Given the description of an element on the screen output the (x, y) to click on. 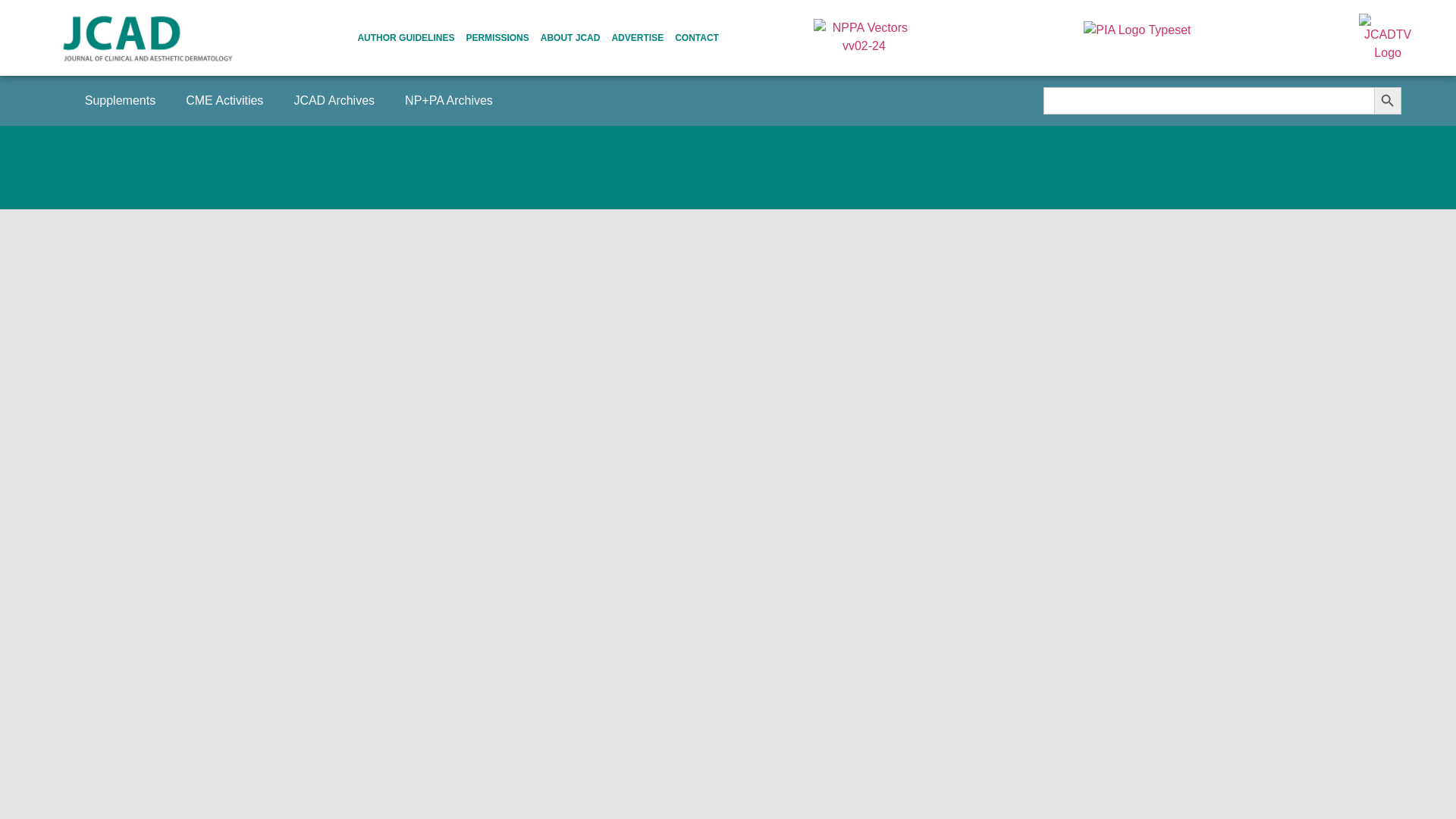
PERMISSIONS (496, 37)
ABOUT JCAD (569, 37)
ADVERTISE (637, 37)
JCAD Archives (334, 100)
NPPA Vectors vv02-24 (863, 37)
CONTACT (697, 37)
Search Button (1387, 100)
Supplements (119, 100)
JCADTV Logo (1387, 37)
CME Activities (224, 100)
PIA Logo Typeset (1137, 38)
AUTHOR GUIDELINES (405, 37)
